Given the description of an element on the screen output the (x, y) to click on. 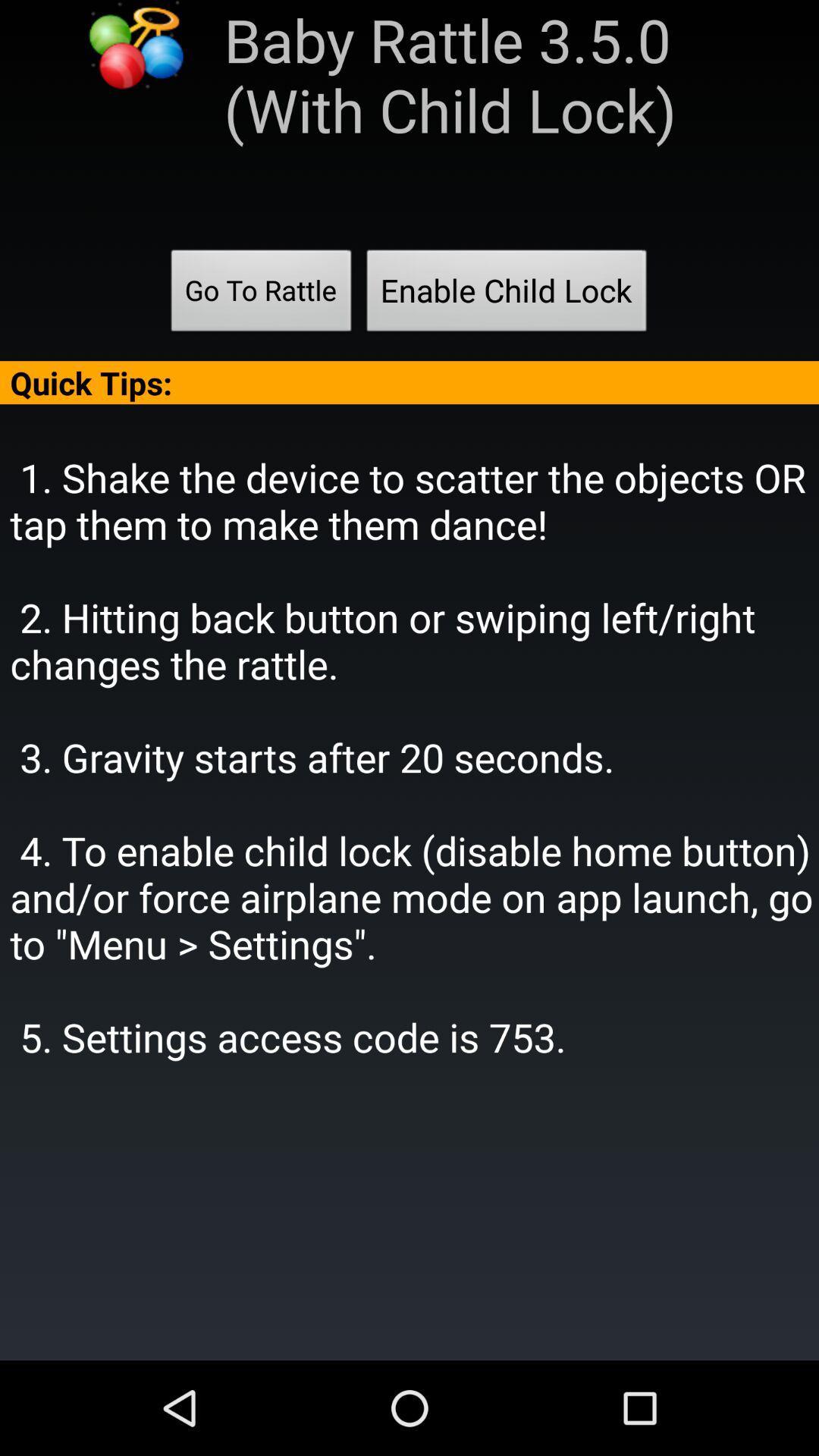
launch app below baby rattle 3 (261, 294)
